Given the description of an element on the screen output the (x, y) to click on. 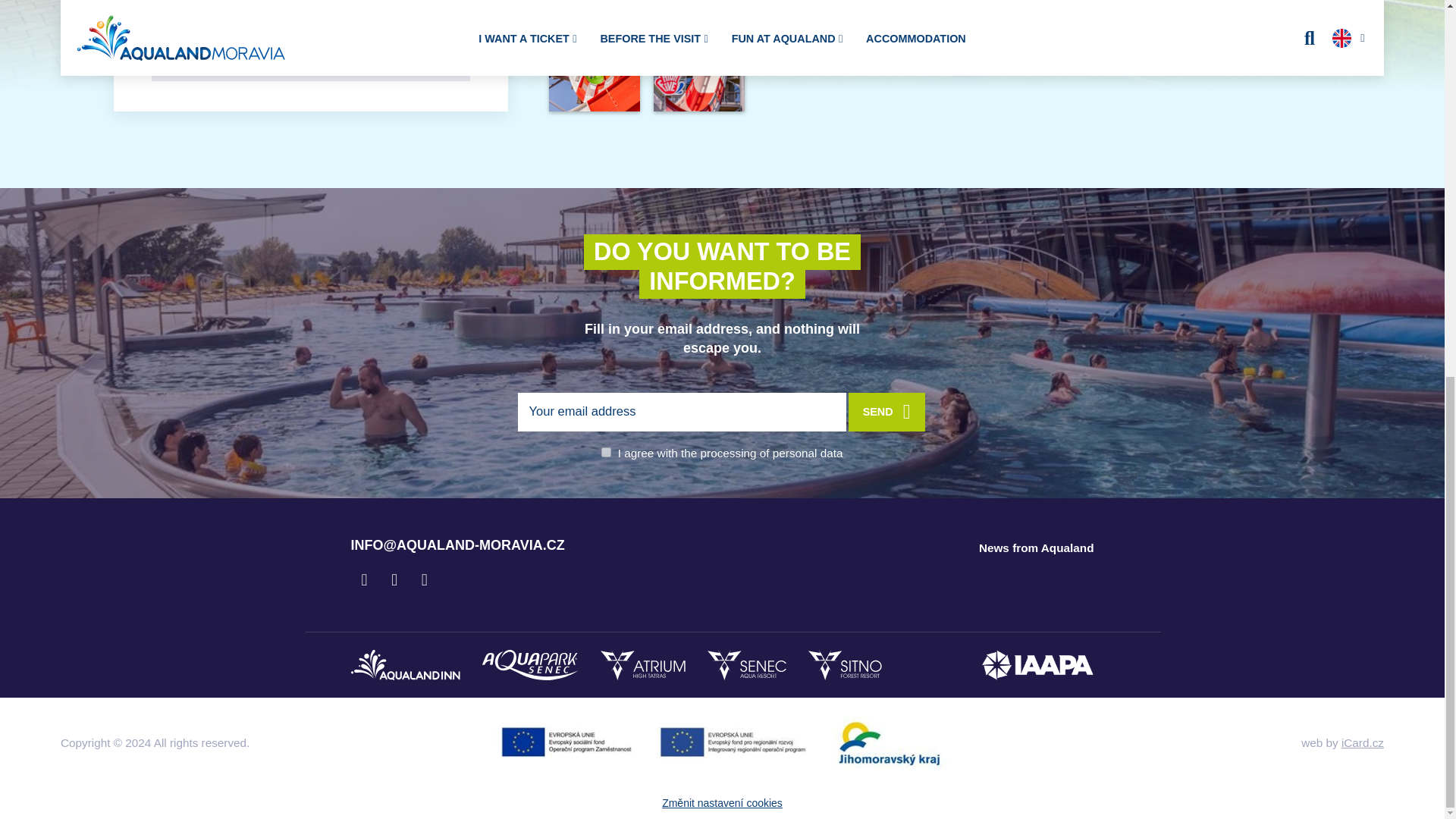
on (606, 452)
Instagram (393, 579)
